Given the description of an element on the screen output the (x, y) to click on. 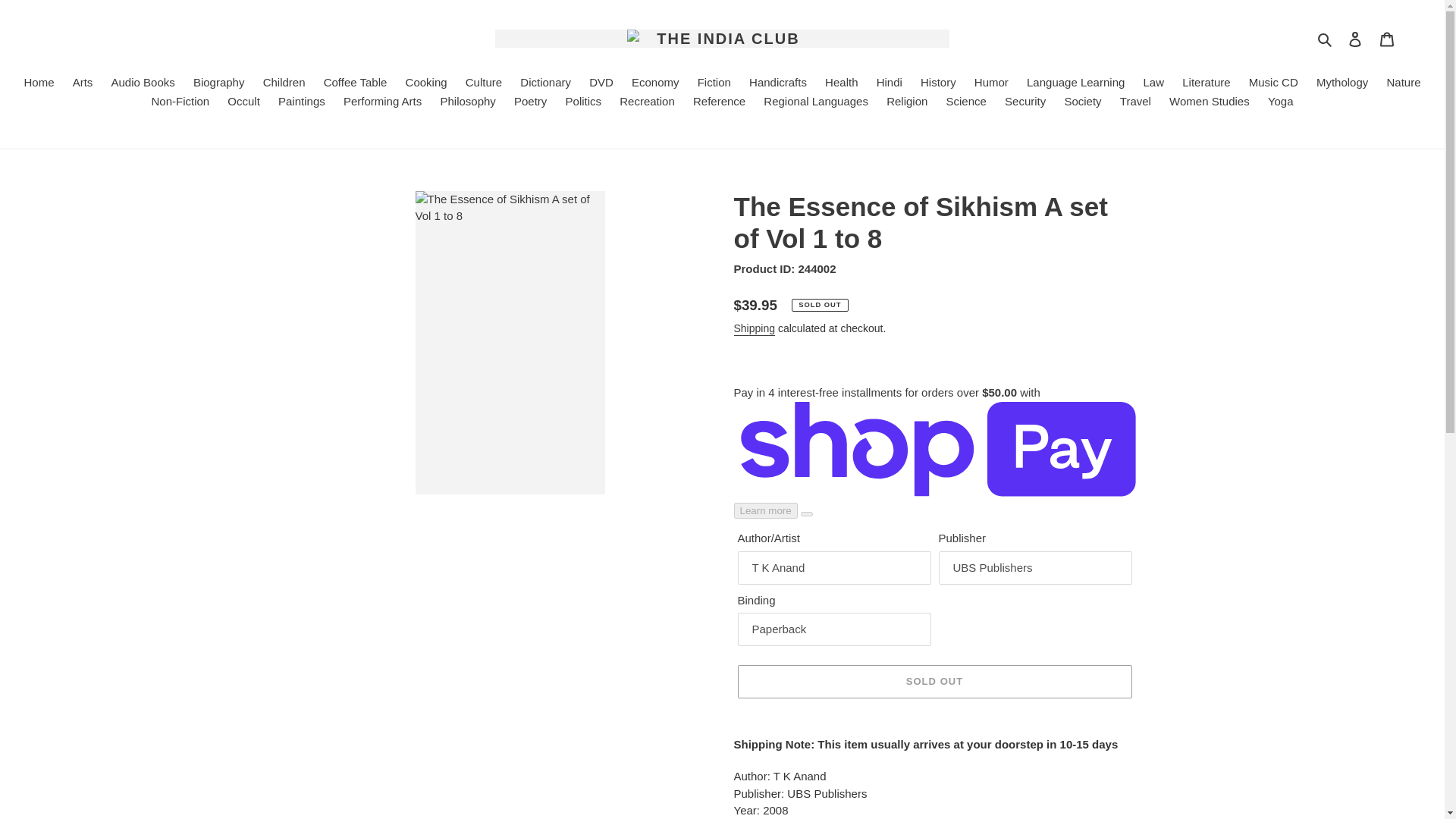
Log in (1355, 38)
Search (1326, 38)
Cart (1387, 38)
